Given the description of an element on the screen output the (x, y) to click on. 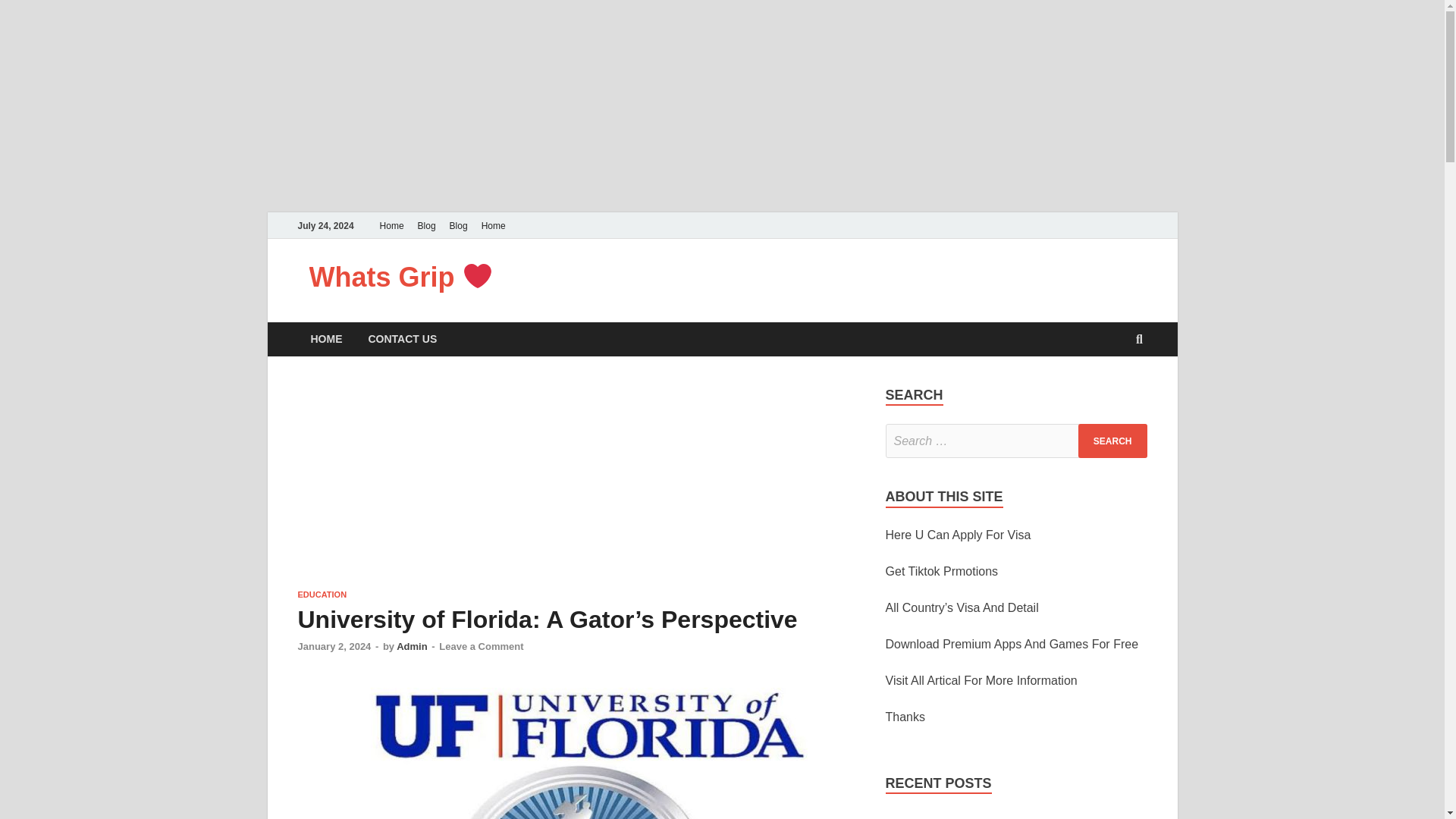
Whats Grip (400, 276)
Search (1112, 440)
Home (391, 225)
Search (1112, 440)
Admin (411, 645)
January 2, 2024 (334, 645)
CONTACT US (402, 339)
Search (1112, 440)
Leave a Comment (480, 645)
Blog (426, 225)
HOME (326, 339)
EDUCATION (321, 593)
Home (493, 225)
Blog (458, 225)
